Given the description of an element on the screen output the (x, y) to click on. 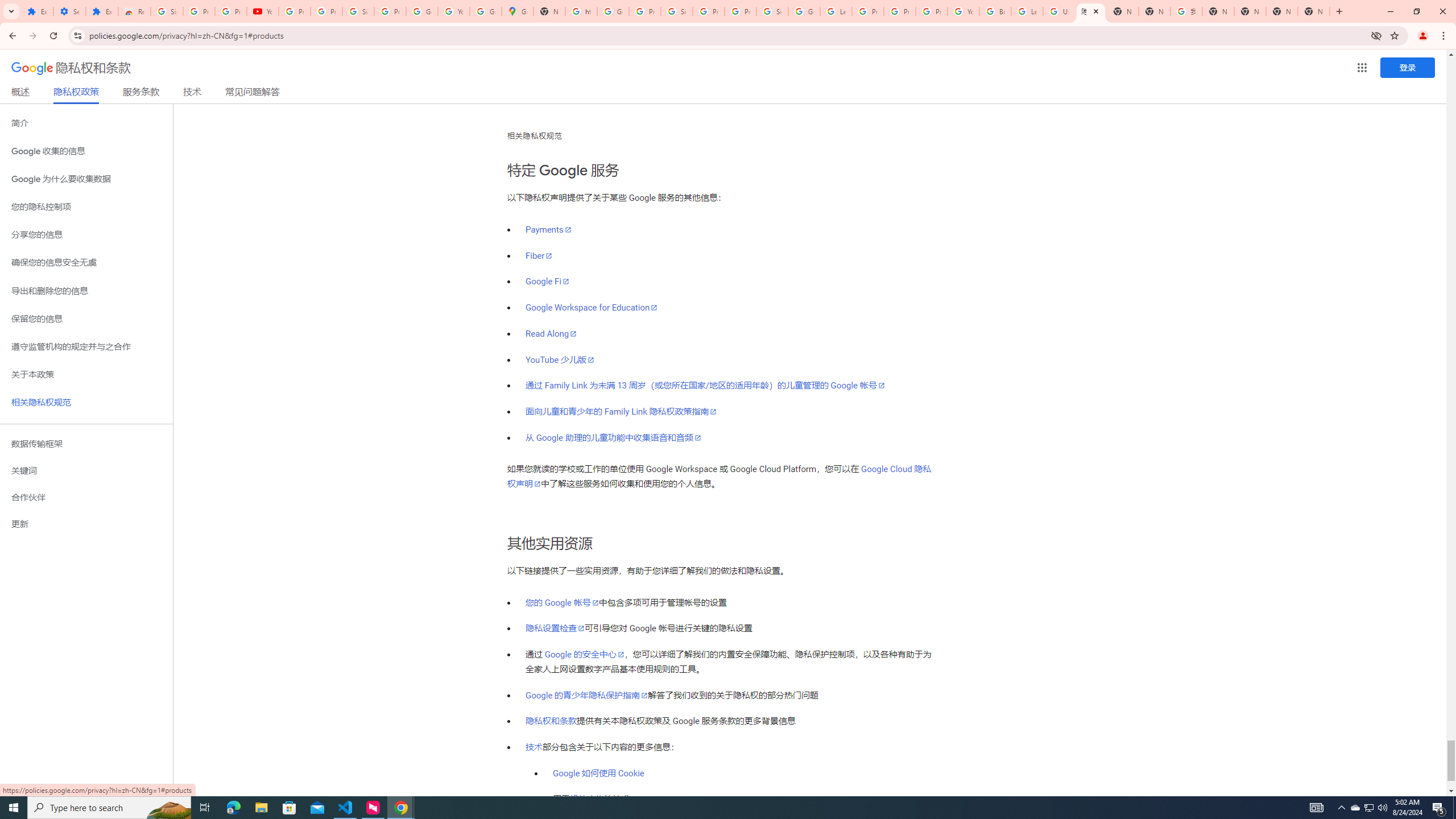
Extensions (37, 11)
